Given the description of an element on the screen output the (x, y) to click on. 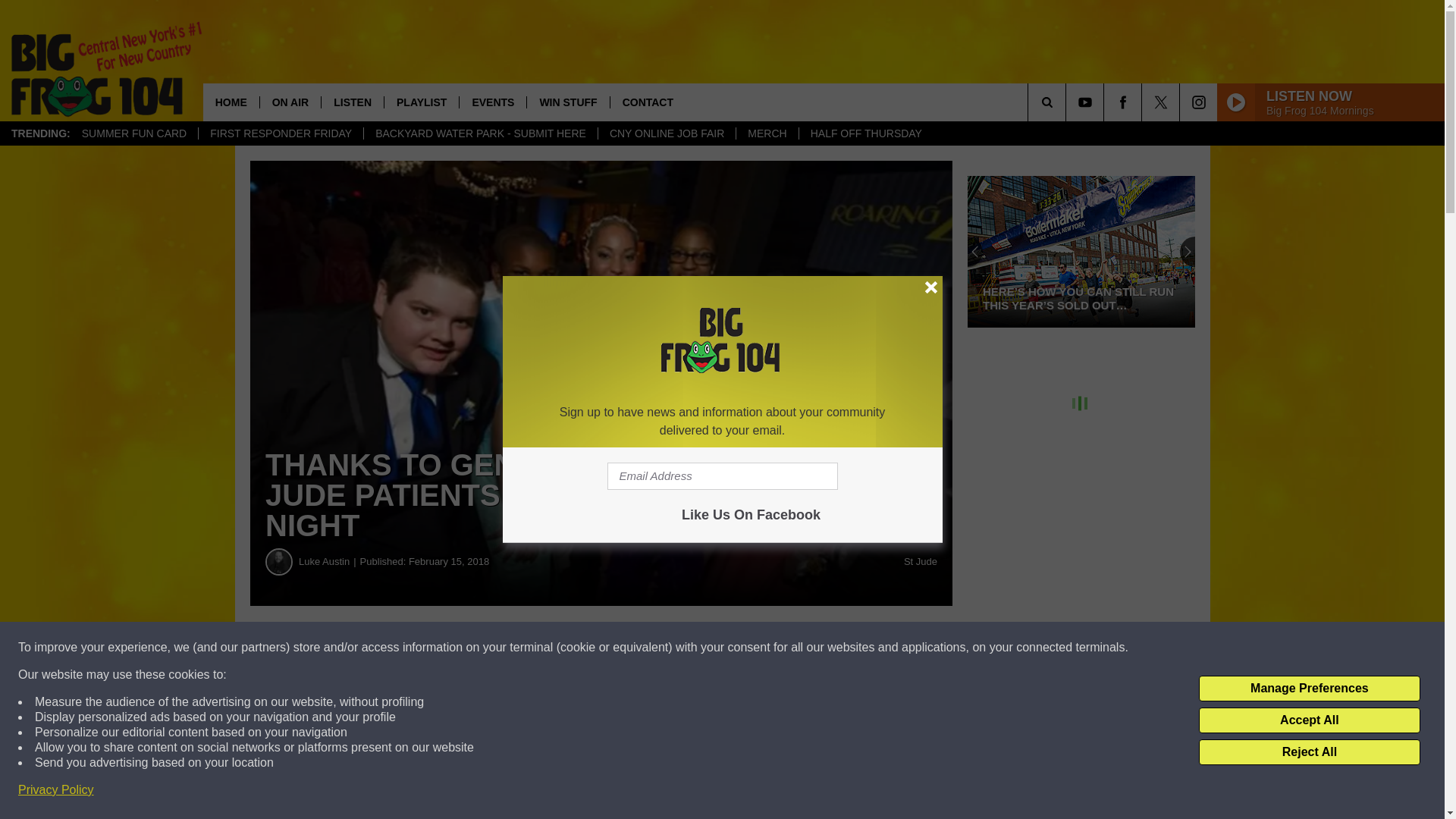
Privacy Policy (55, 789)
EVENTS (491, 102)
WIN STUFF (566, 102)
HOME (231, 102)
Reject All (1309, 751)
Share on Twitter (741, 647)
Share on Facebook (460, 647)
CONTACT (647, 102)
MERCH (766, 133)
Manage Preferences (1309, 688)
Accept All (1309, 720)
CNY ONLINE JOB FAIR (665, 133)
LISTEN (352, 102)
ON AIR (289, 102)
SUMMER FUN CARD (133, 133)
